Given the description of an element on the screen output the (x, y) to click on. 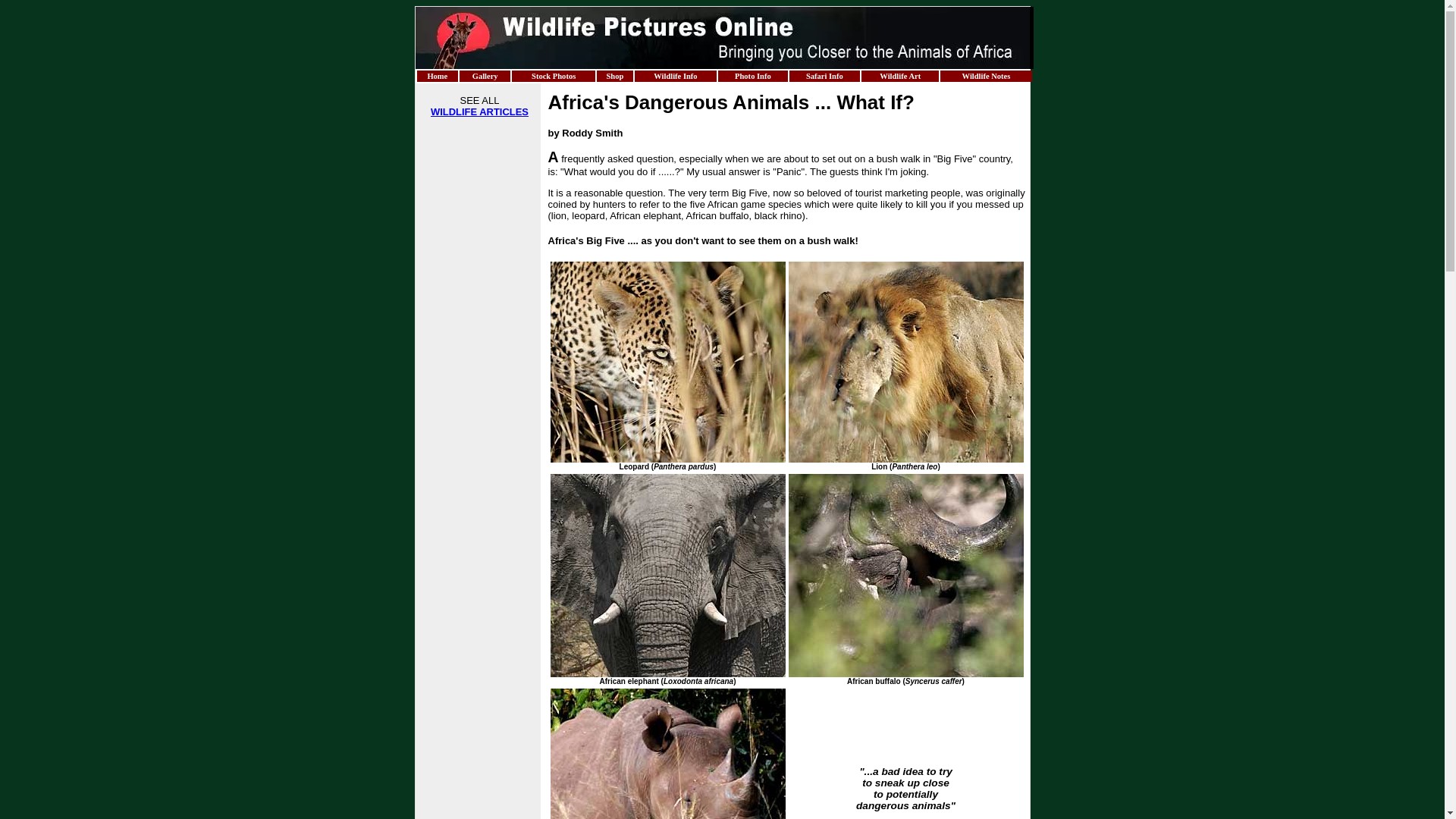
WILDLIFE ARTICLES (479, 111)
Stock Photos (553, 75)
Safari Info (824, 75)
Wildlife Notes (985, 75)
Photo Info (752, 75)
Shop (614, 75)
Wildlife Info (674, 75)
Gallery (485, 75)
Wildlife Art (900, 75)
Home (437, 75)
